Given the description of an element on the screen output the (x, y) to click on. 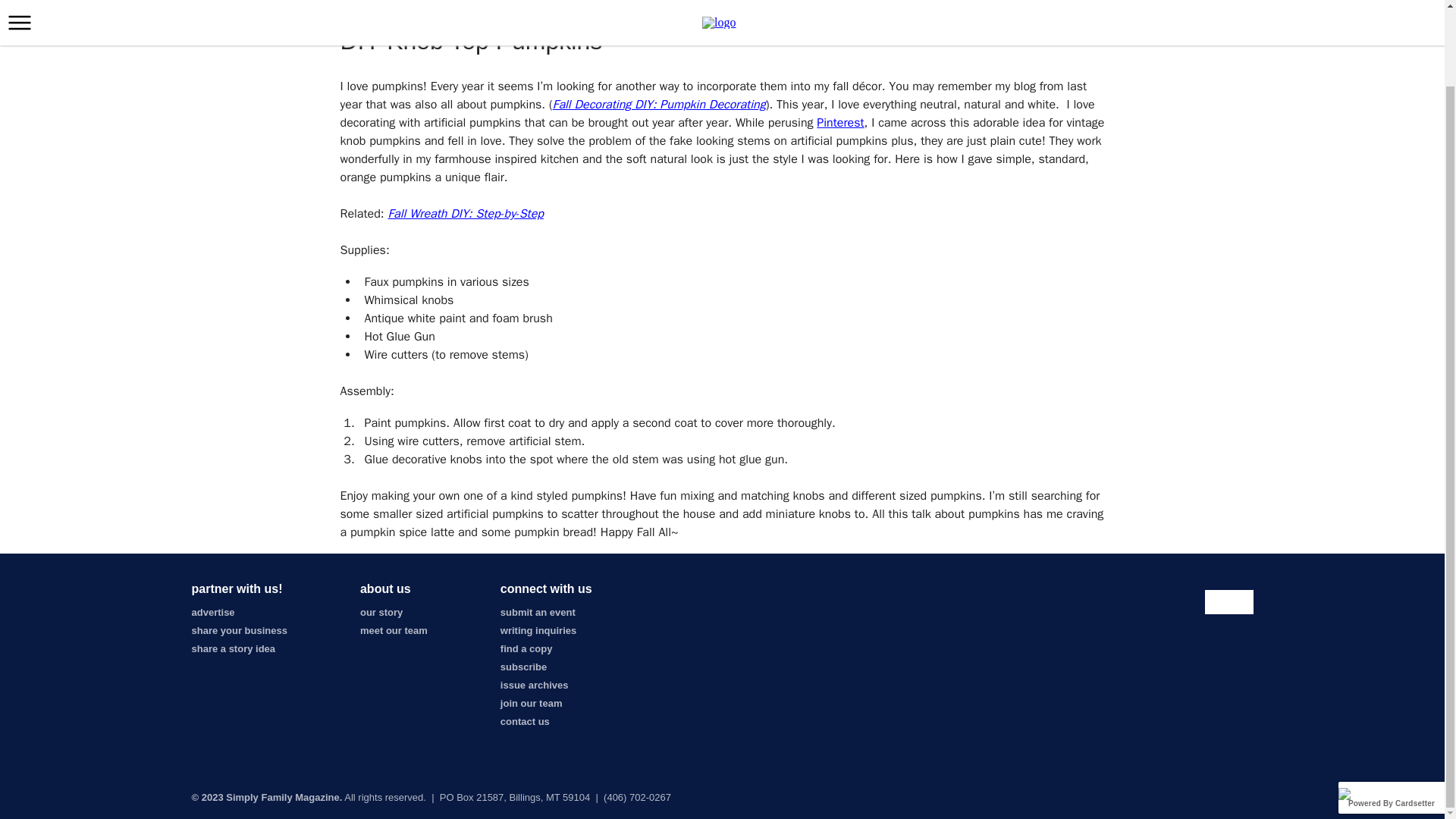
join our team (531, 703)
issue archives (534, 685)
Fall Wreath DIY: Step-by-Step (465, 213)
Pinterest (839, 122)
share a story idea (232, 648)
advertise (212, 612)
contact us (525, 721)
subscribe (523, 666)
Fall Decorating DIY: Pumpkin Decorating (659, 104)
writing inquiries (538, 630)
